Given the description of an element on the screen output the (x, y) to click on. 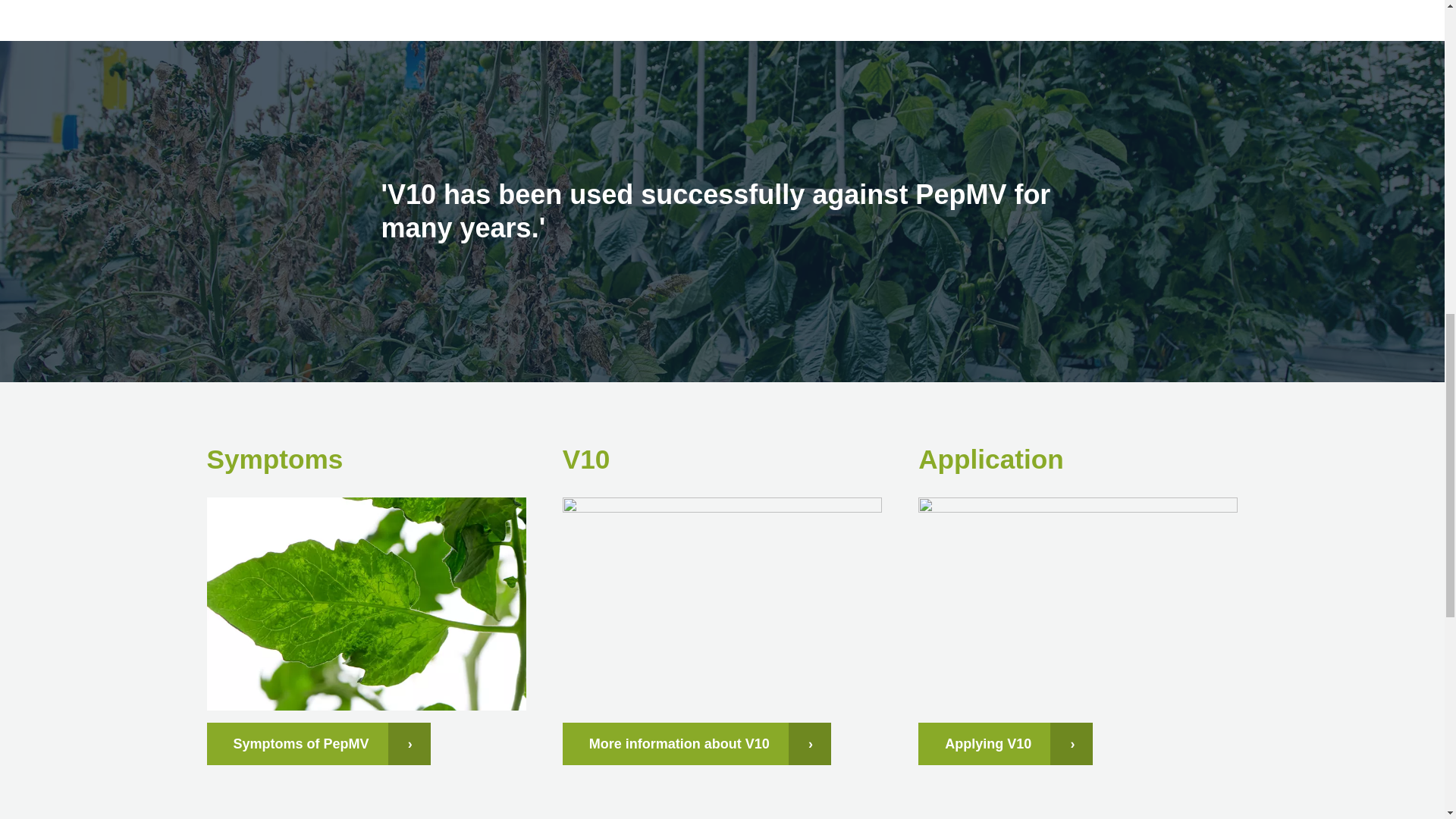
Symptoms (317, 743)
Application (1005, 743)
Symptoms of PepMV (317, 743)
More information about V10 (696, 743)
V10 (696, 743)
Applying V10 (1005, 743)
